Given the description of an element on the screen output the (x, y) to click on. 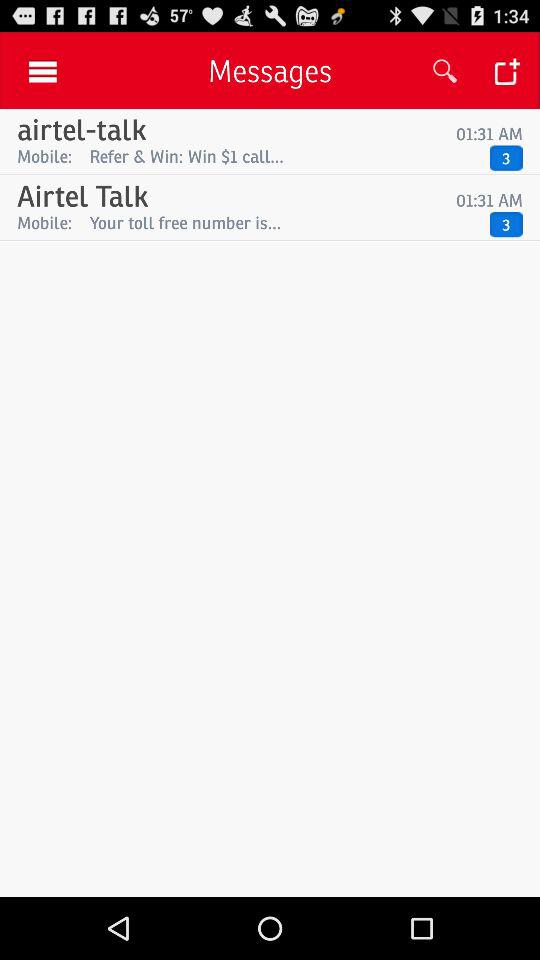
launch the app below 01:31 am (284, 222)
